Given the description of an element on the screen output the (x, y) to click on. 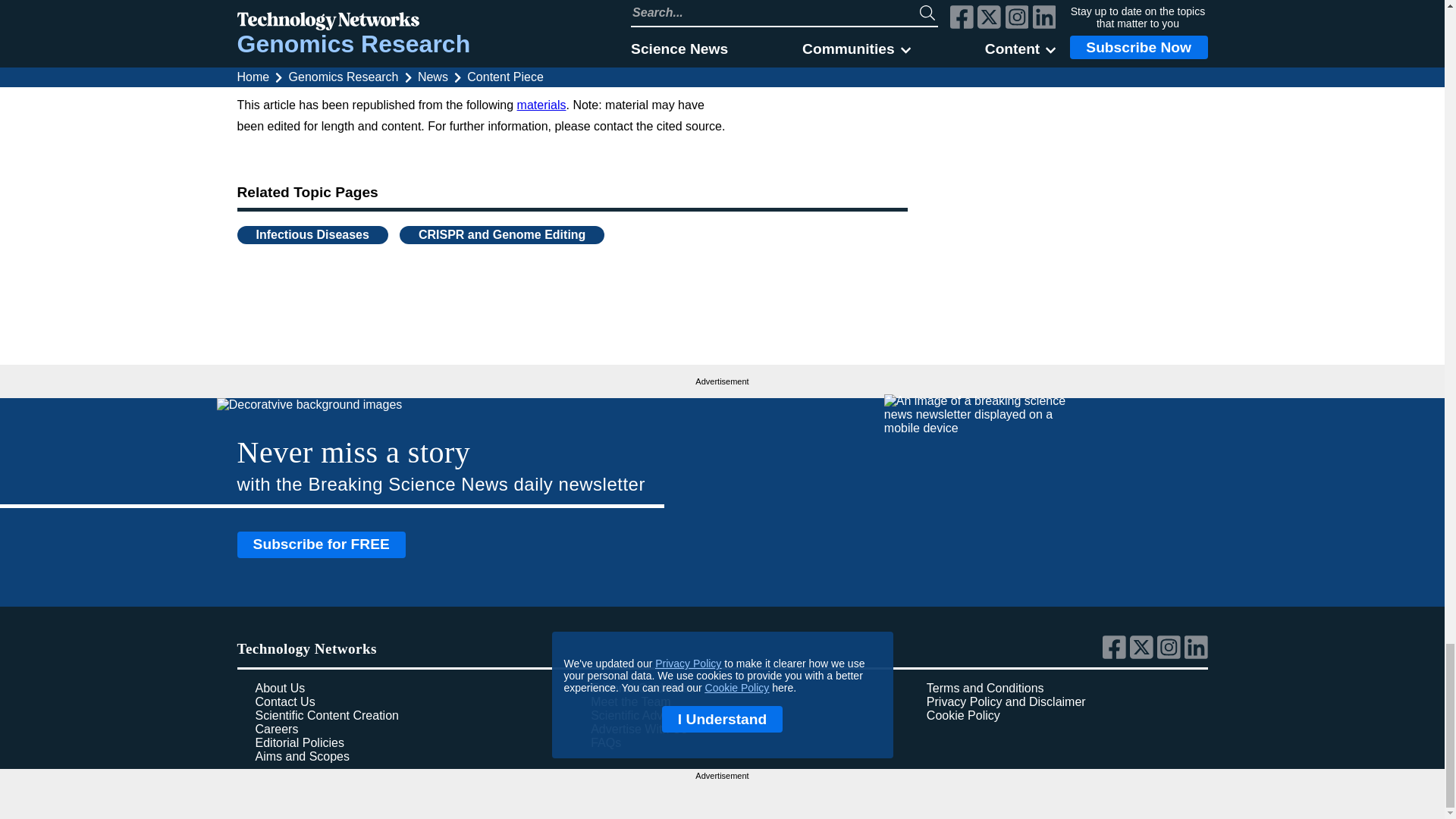
Link to Technology Networks' linkedin page (1196, 655)
Link to Technology Networks' facebook page (1115, 655)
Link to Technology Networks' instagram page (1171, 655)
Link to Technology Networks' twitter page (1143, 655)
